Given the description of an element on the screen output the (x, y) to click on. 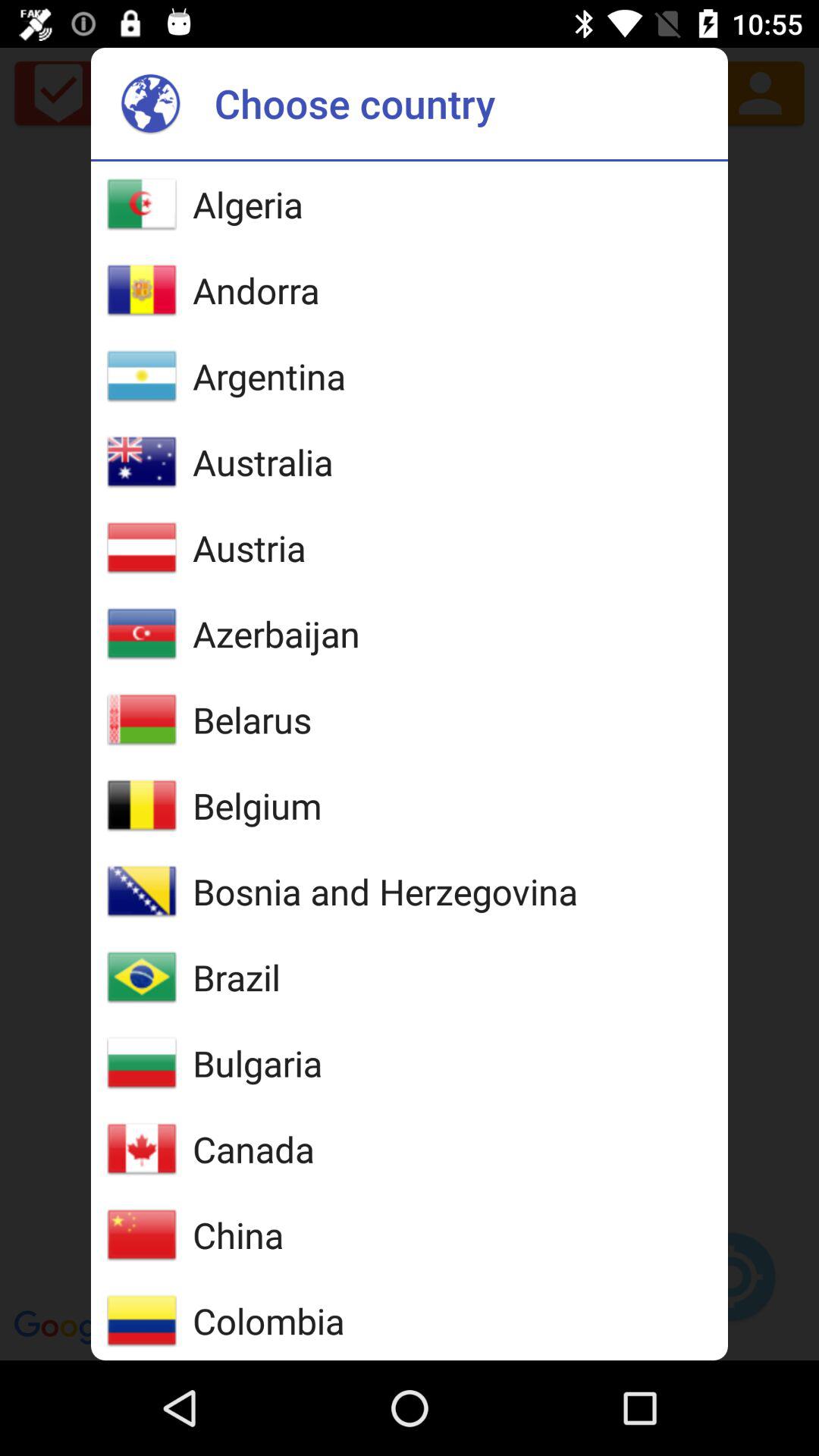
flip to the australia (262, 461)
